Given the description of an element on the screen output the (x, y) to click on. 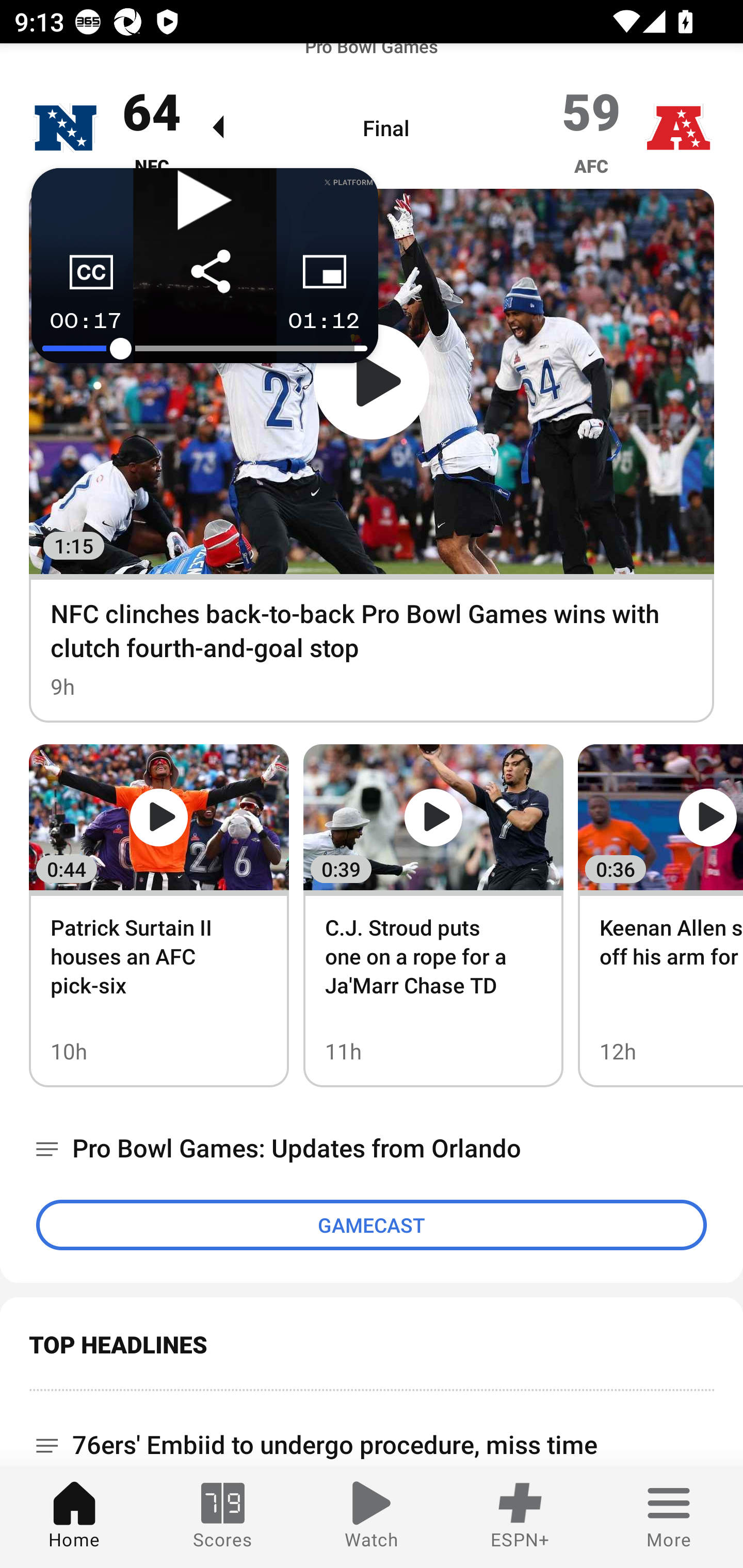
 Pro Bowl Games: Updates from Orlando (371, 1148)
GAMECAST (371, 1224)
 76ers' Embiid to undergo procedure, miss time (371, 1428)
Scores (222, 1517)
Watch (371, 1517)
ESPN+ (519, 1517)
More (668, 1517)
